Given the description of an element on the screen output the (x, y) to click on. 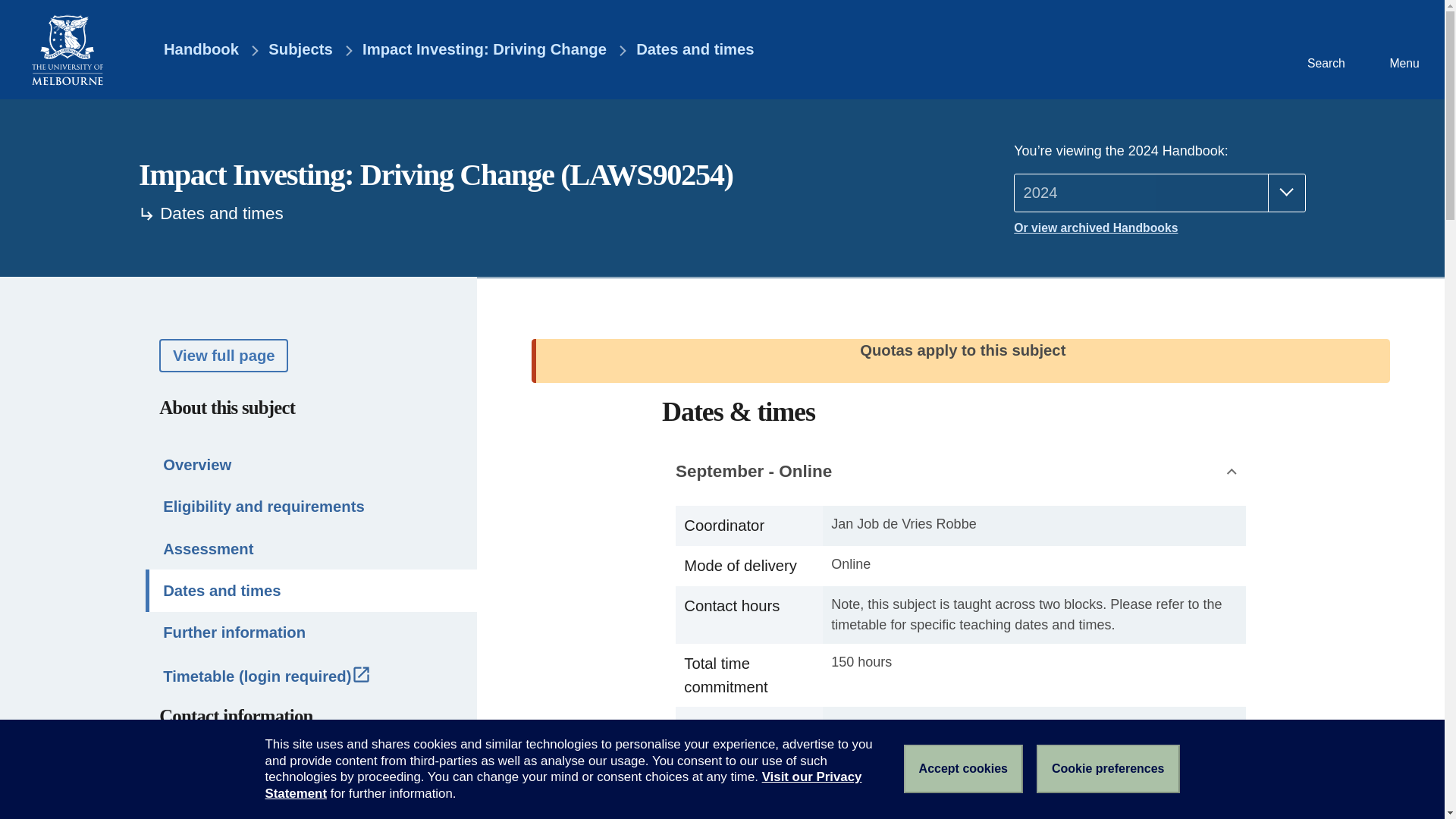
Search (1324, 49)
Or view archived Handbooks (1159, 228)
Search (1324, 49)
Dates and times (695, 49)
View full page (223, 355)
Dates and times (311, 589)
Subjects (299, 49)
Overview (311, 464)
Impact Investing: Driving Change (484, 49)
Handbook (189, 49)
Assessment (311, 548)
Eligibility and requirements (311, 506)
Further information (311, 632)
